Given the description of an element on the screen output the (x, y) to click on. 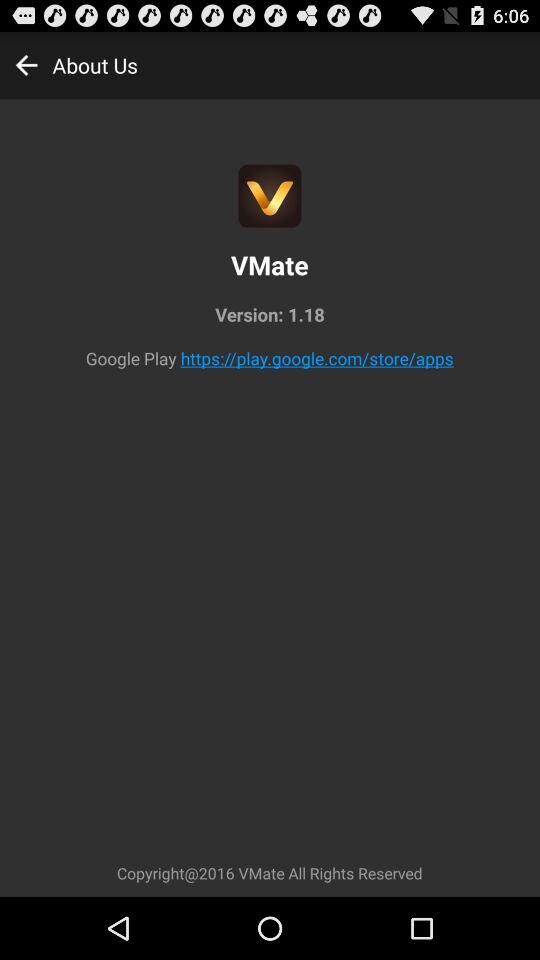
tap https play google at the center (316, 357)
